Given the description of an element on the screen output the (x, y) to click on. 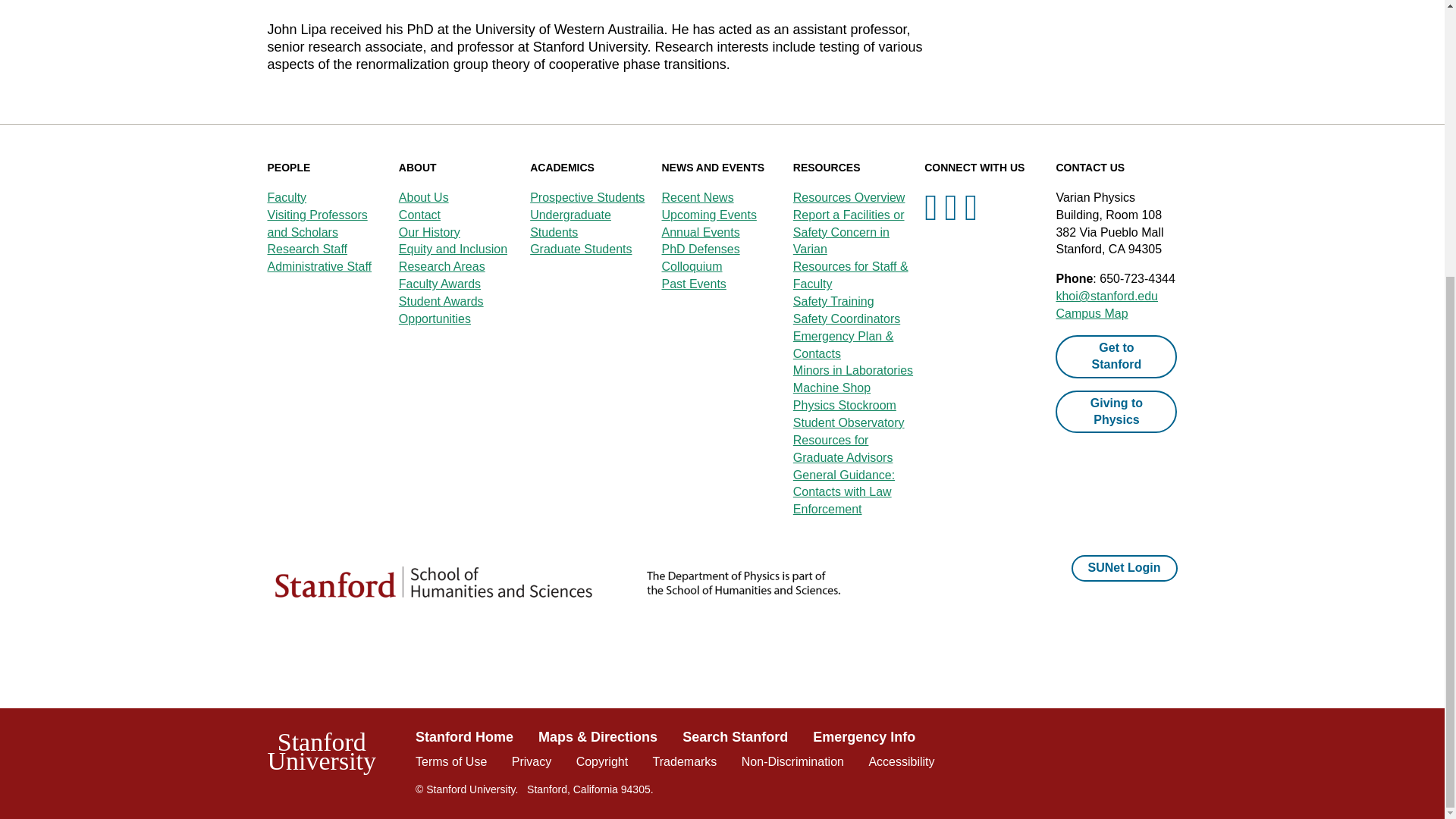
Report web accessibility issues (900, 761)
Privacy and cookie policy (531, 761)
Non-discrimination policy (792, 761)
Studetnt Awards (463, 300)
Report alleged copyright infringement (601, 761)
Terms of use for sites (450, 761)
Ownership and use of Stanford trademarks and images (684, 761)
